Given the description of an element on the screen output the (x, y) to click on. 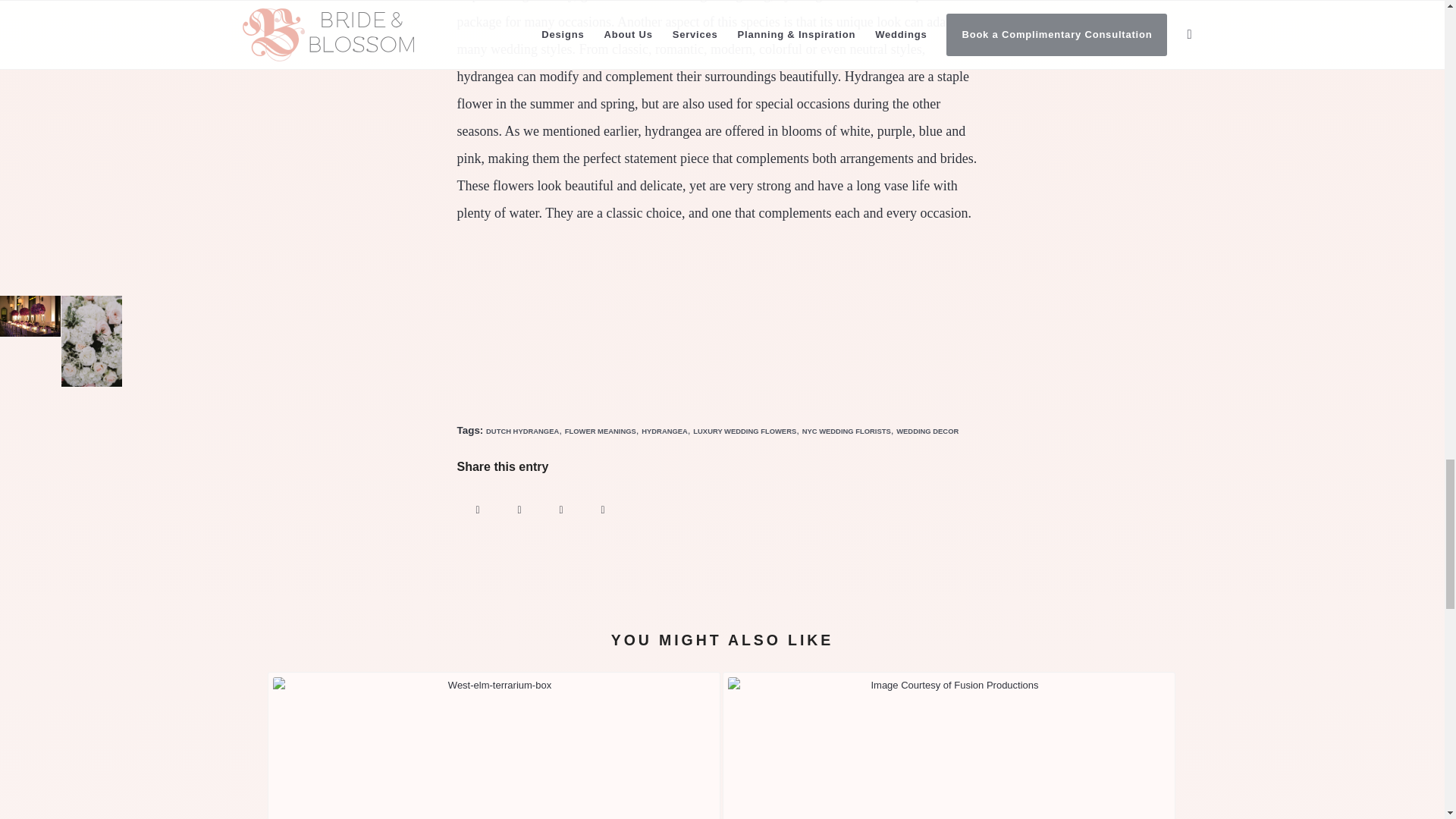
NYC WEDDING FLORISTS (846, 430)
Interview with Marcus Mordachini of Fusion Productions (948, 745)
West Elm terrarium box (493, 748)
DUTCH HYDRANGEA (522, 430)
We Love: Faceted Glass Terrariums from West Elm (492, 745)
HYDRANGEA (664, 430)
WEDDING DECOR (927, 430)
Interview with Marcus Mordachini of Fusion Productions (948, 745)
FLOWER MEANINGS (600, 430)
LUXURY WEDDING FLOWERS (744, 430)
We Love: Faceted Glass Terrariums from West Elm (492, 745)
